Given the description of an element on the screen output the (x, y) to click on. 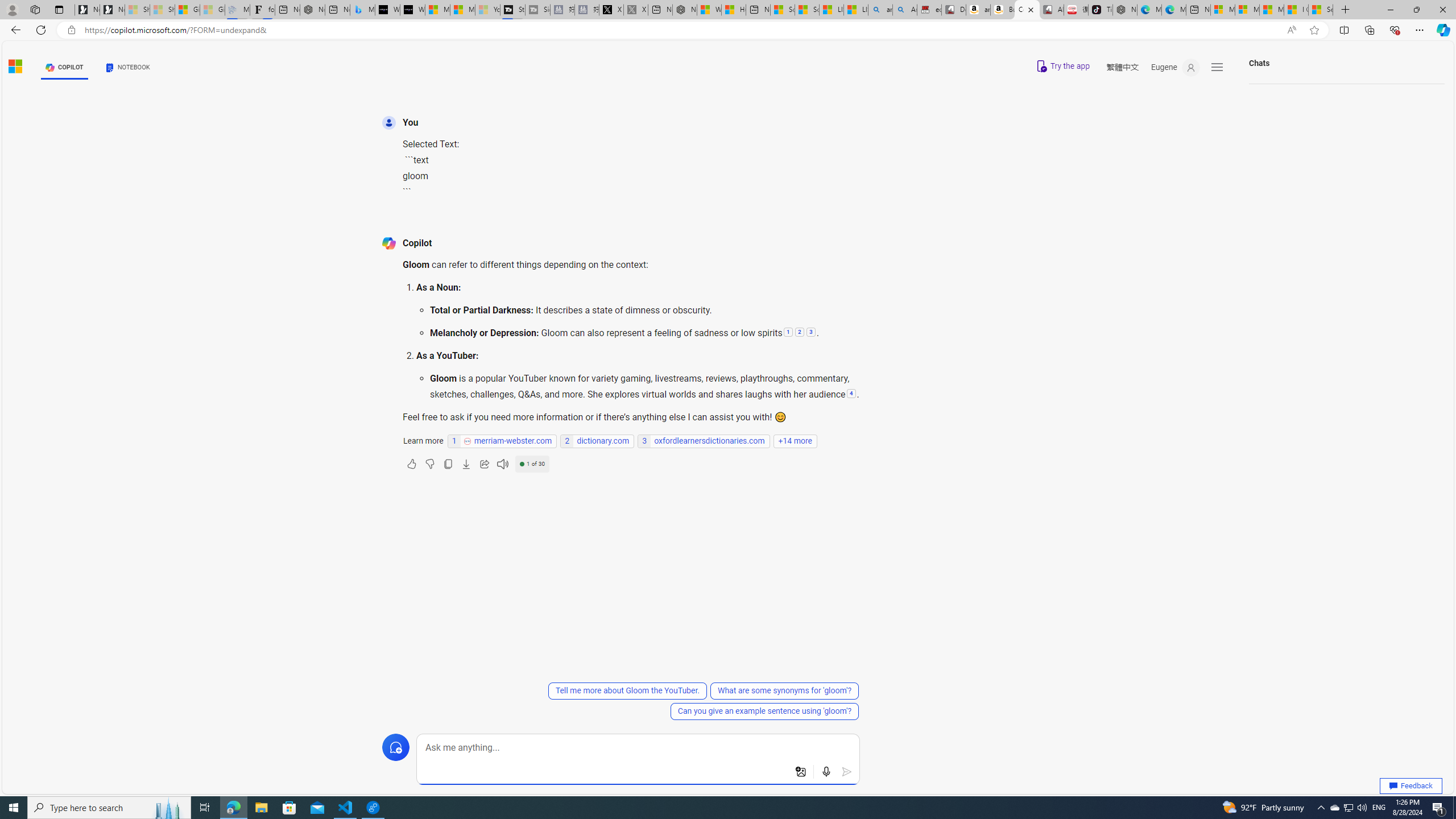
Address and search bar (680, 29)
NOTEBOOK (127, 67)
Read aloud (502, 464)
All Cubot phones (1051, 9)
Eugene (1175, 67)
Try Copilot App on mobile (1061, 65)
